Given the description of an element on the screen output the (x, y) to click on. 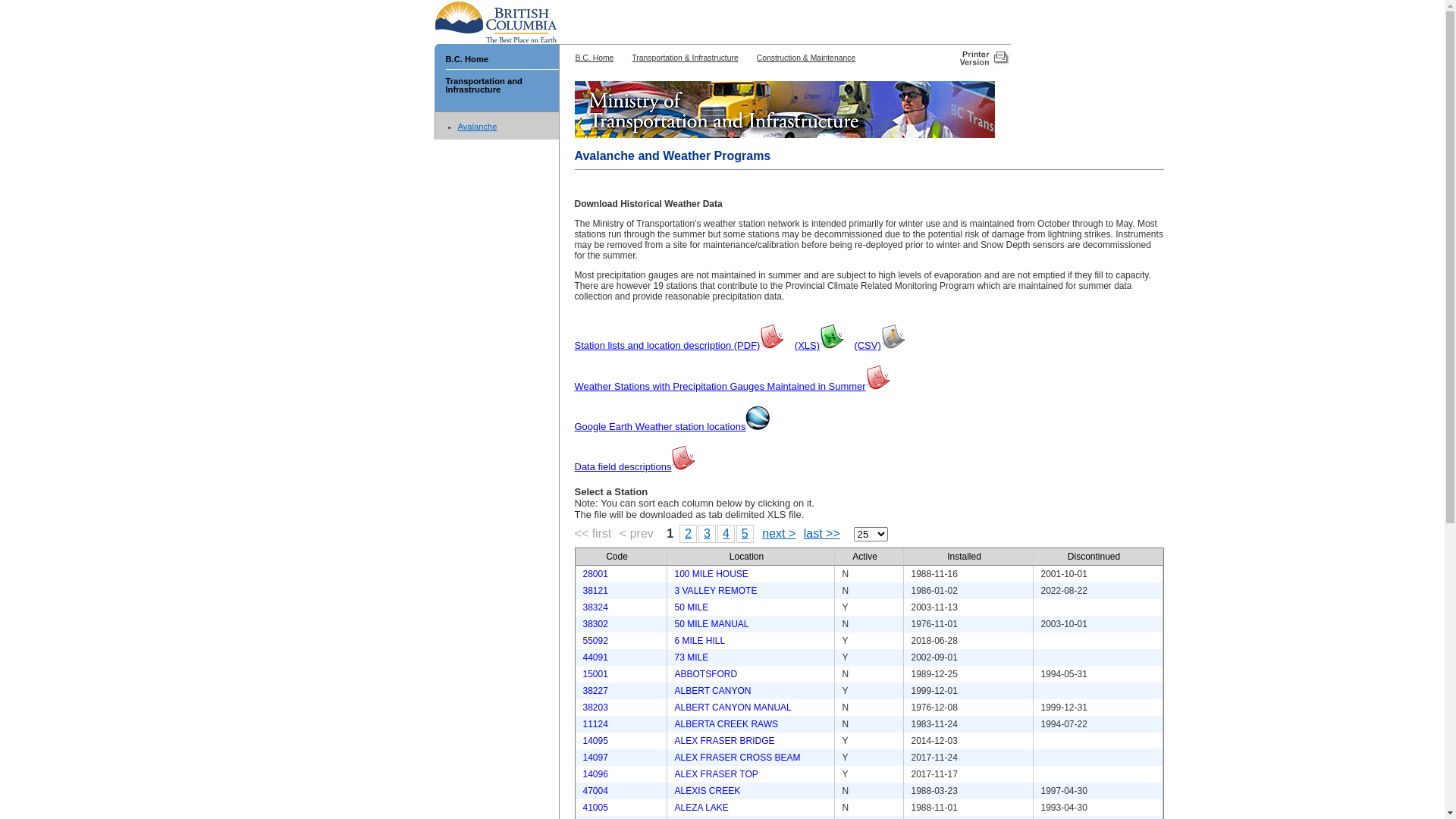
2 Element type: text (687, 533)
5 Element type: text (744, 533)
3 Element type: text (706, 533)
ALBERT CANYON MANUAL Element type: text (732, 707)
ALBERTA CREEK RAWS Element type: text (726, 723)
ALBERT CANYON Element type: text (712, 690)
Active Element type: text (864, 556)
38203 Element type: text (594, 707)
ALEZA LAKE Element type: text (701, 807)
14096 Element type: text (594, 773)
38324 Element type: text (594, 607)
14095 Element type: text (594, 740)
44091 Element type: text (594, 657)
ALEX FRASER TOP Element type: text (716, 773)
6 MILE HILL Element type: text (699, 640)
28001 Element type: text (594, 573)
38121 Element type: text (594, 590)
ALEX FRASER CROSS BEAM Element type: text (737, 757)
Discontinued Element type: text (1093, 556)
55092 Element type: text (594, 640)
Station lists and location description (PDF) Element type: text (679, 344)
38227 Element type: text (594, 690)
B.C. Home Element type: text (467, 58)
last >> Element type: text (819, 533)
15001 Element type: text (594, 673)
11124 Element type: text (594, 723)
Construction & Maintenance Element type: text (806, 57)
ALEXIS CREEK Element type: text (707, 790)
Code Element type: text (616, 556)
next > Element type: text (776, 533)
100 MILE HOUSE Element type: text (711, 573)
ABBOTSFORD Element type: text (705, 673)
B.C. Home Element type: text (594, 57)
47004 Element type: text (594, 790)
Data field descriptions Element type: text (635, 465)
3 VALLEY REMOTE Element type: text (715, 590)
73 MILE Element type: text (691, 657)
Printer Friendly Version. Element type: hover (981, 56)
Avalanche Element type: text (477, 126)
14097 Element type: text (594, 757)
4 Element type: text (725, 533)
(XLS) Element type: text (819, 344)
38302 Element type: text (594, 623)
(CSV) Element type: text (878, 344)
50 MILE MANUAL Element type: text (711, 623)
50 MILE Element type: text (691, 607)
ALEX FRASER BRIDGE Element type: text (724, 740)
Transportation and Infrastructure Element type: text (483, 89)
41005 Element type: text (594, 807)
Google Earth Weather station locations Element type: text (672, 425)
Transportation & Infrastructure Element type: text (684, 57)
Location Element type: text (746, 556)
Installed Element type: text (964, 556)
